Given the description of an element on the screen output the (x, y) to click on. 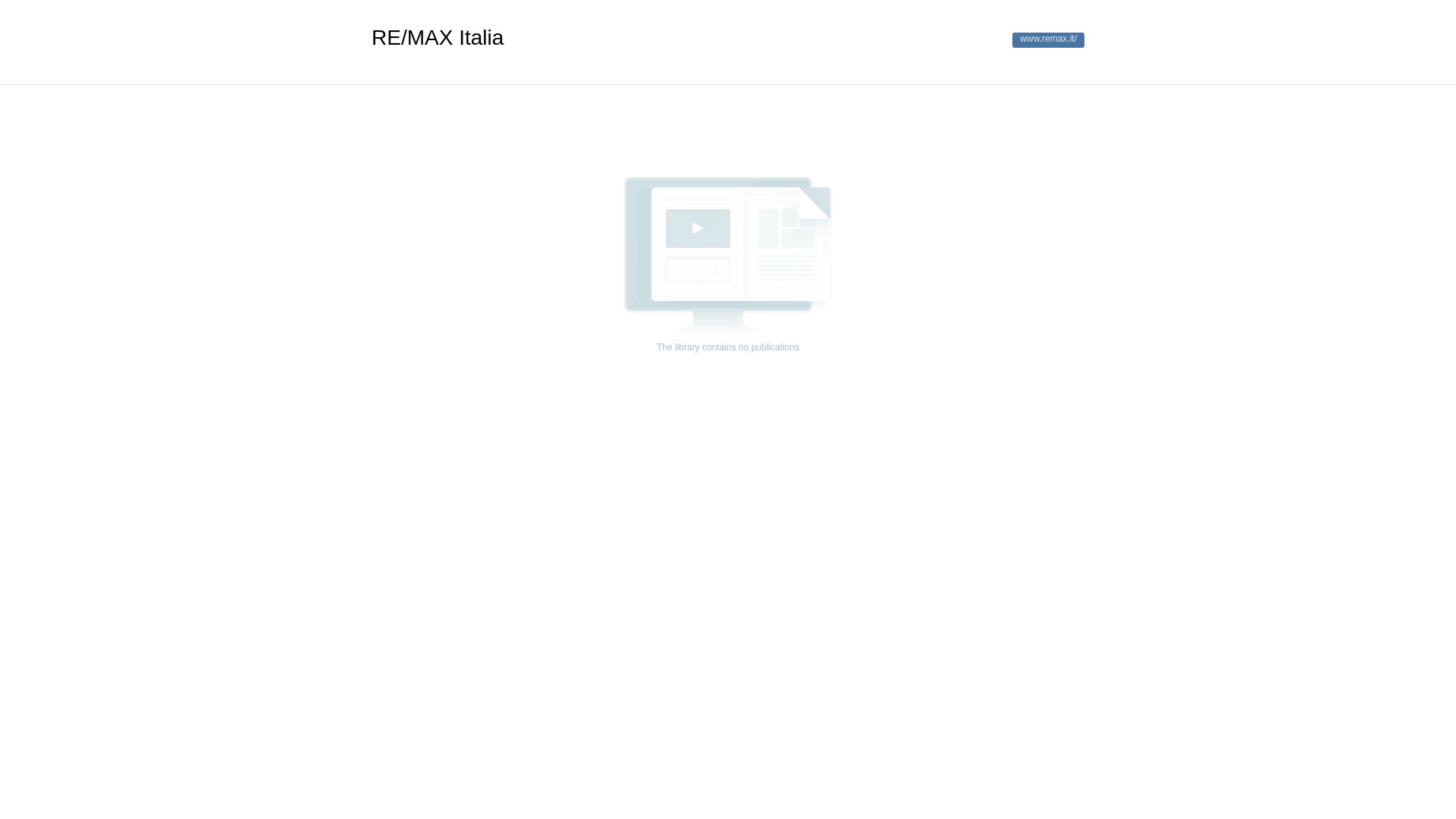
www.remax.it/ Element type: text (1048, 39)
